Given the description of an element on the screen output the (x, y) to click on. 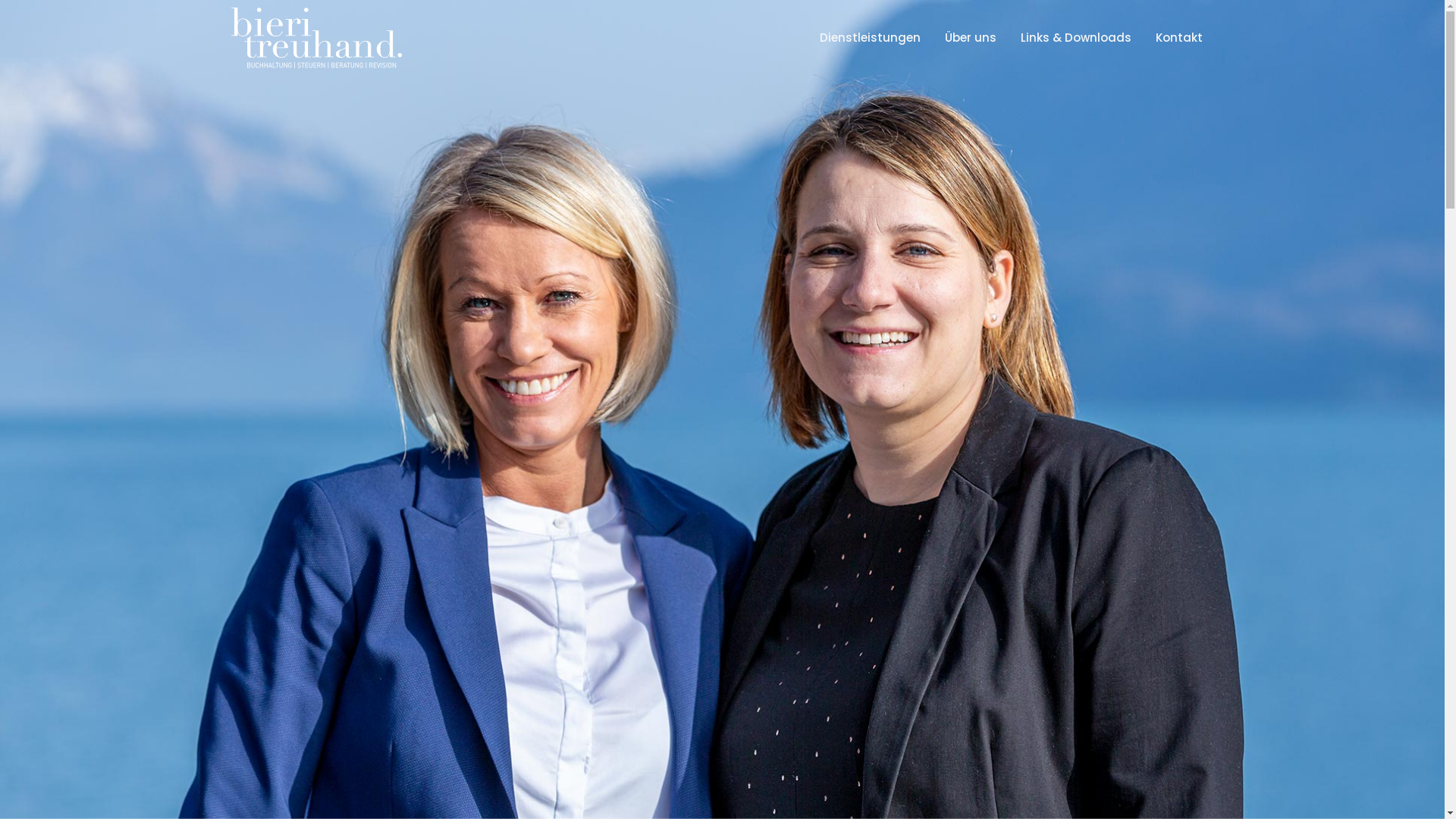
Links & Downloads Element type: text (1075, 37)
Dienstleistungen Element type: text (869, 37)
Kontakt Element type: text (1178, 37)
